Given the description of an element on the screen output the (x, y) to click on. 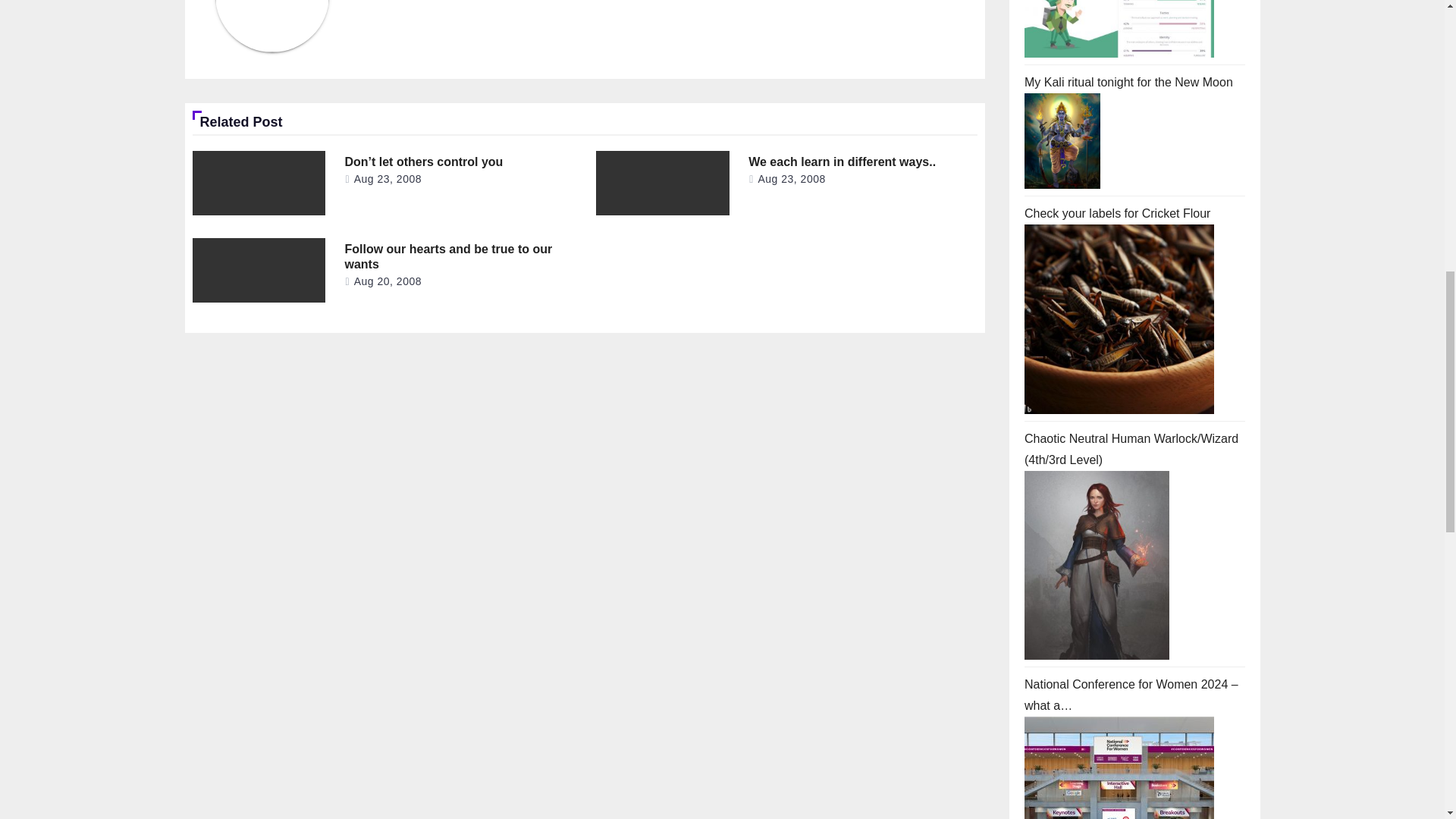
Permalink to: Follow our hearts and be true to our wants (447, 256)
Permalink to: We each learn in different ways.. (842, 161)
We each learn in different ways.. (842, 161)
Aug 23, 2008 (387, 178)
